Given the description of an element on the screen output the (x, y) to click on. 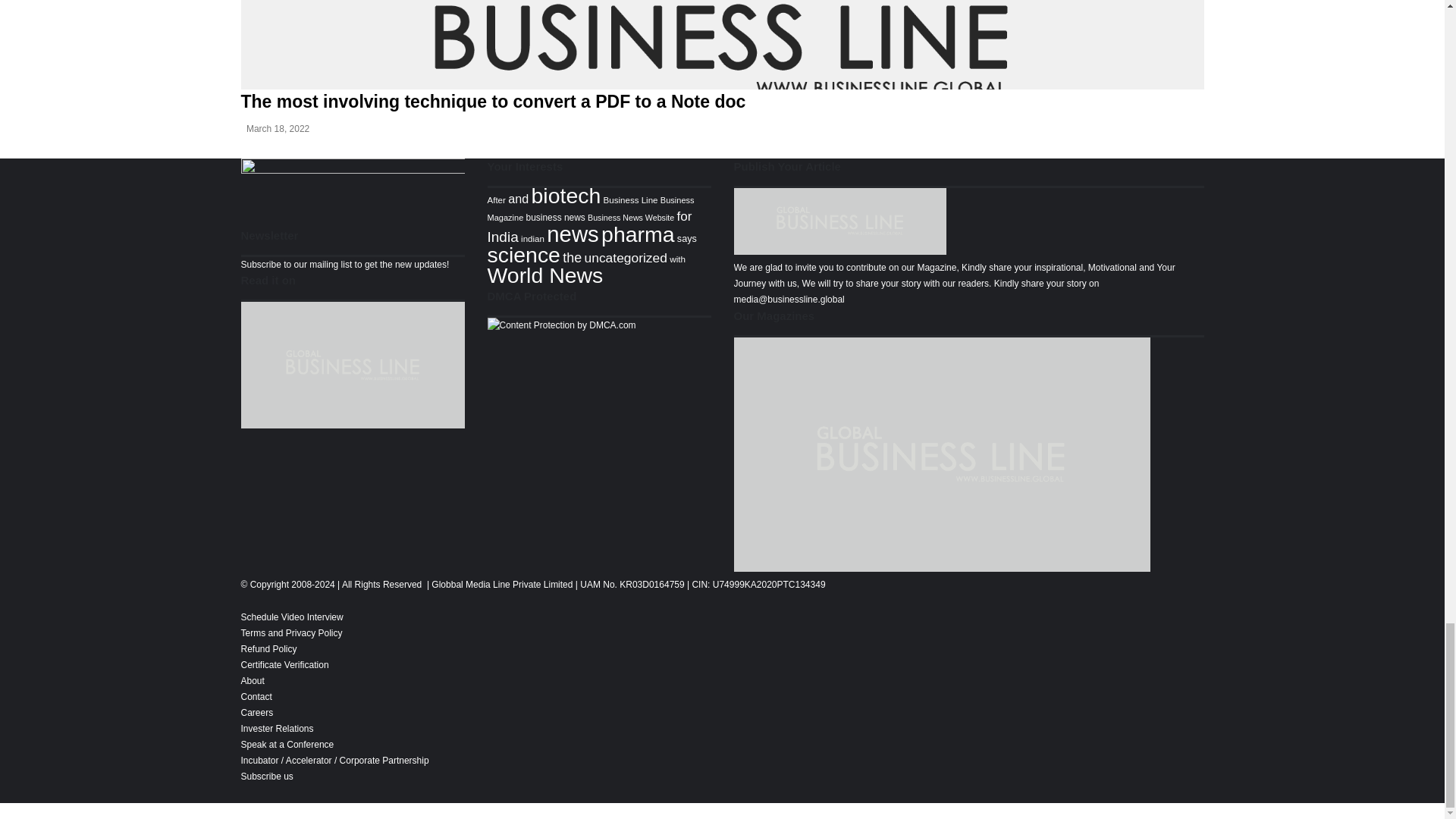
Content Protection by DMCA.com (560, 325)
